Given the description of an element on the screen output the (x, y) to click on. 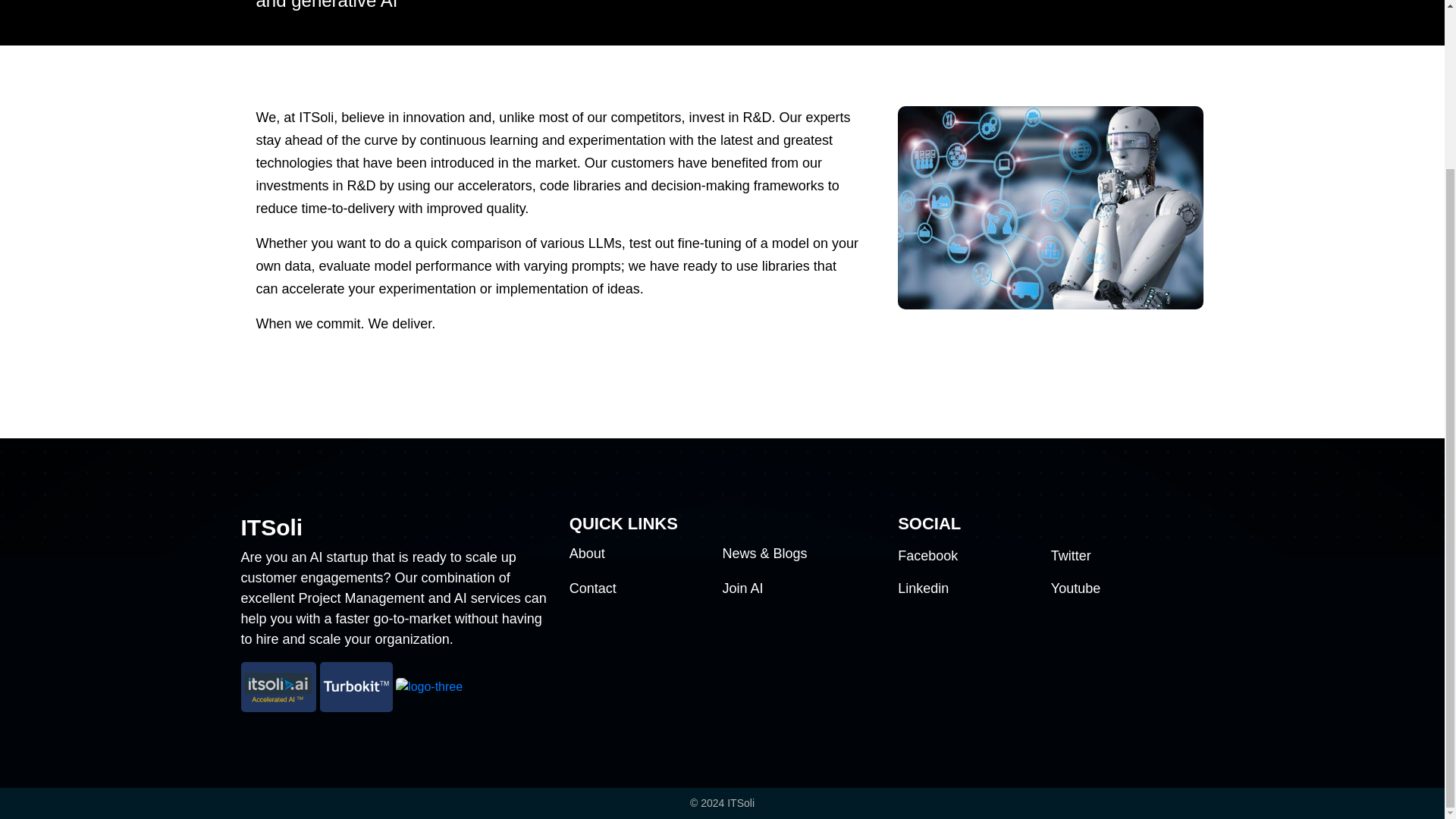
Youtube (1075, 588)
Contact (592, 588)
Join AI (742, 588)
About (587, 553)
Facebook (928, 555)
Twitter (1070, 555)
Linkedin (923, 588)
